Given the description of an element on the screen output the (x, y) to click on. 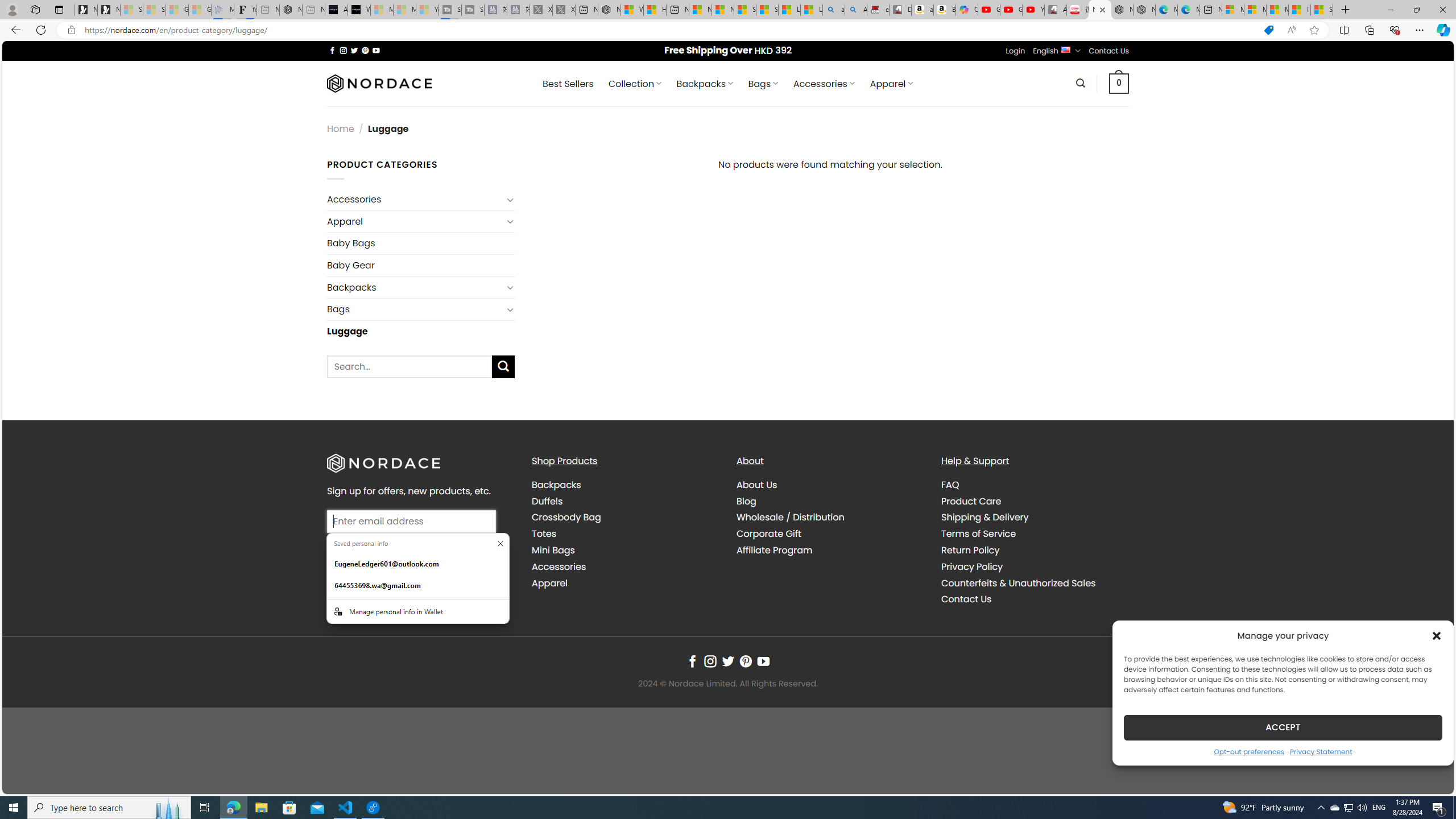
Gloom - YouTube (1010, 9)
I Gained 20 Pounds of Muscle in 30 Days! | Watch (1300, 9)
AutomationID: input_4_1 (411, 521)
Personal Profile (12, 9)
YouTube Kids - An App Created for Kids to Explore Content (1033, 9)
Duffels (547, 500)
Affiliate Program (830, 549)
Refresh (40, 29)
Read aloud this page (Ctrl+Shift+U) (1291, 29)
About Us (830, 484)
FAQ (949, 484)
